Given the description of an element on the screen output the (x, y) to click on. 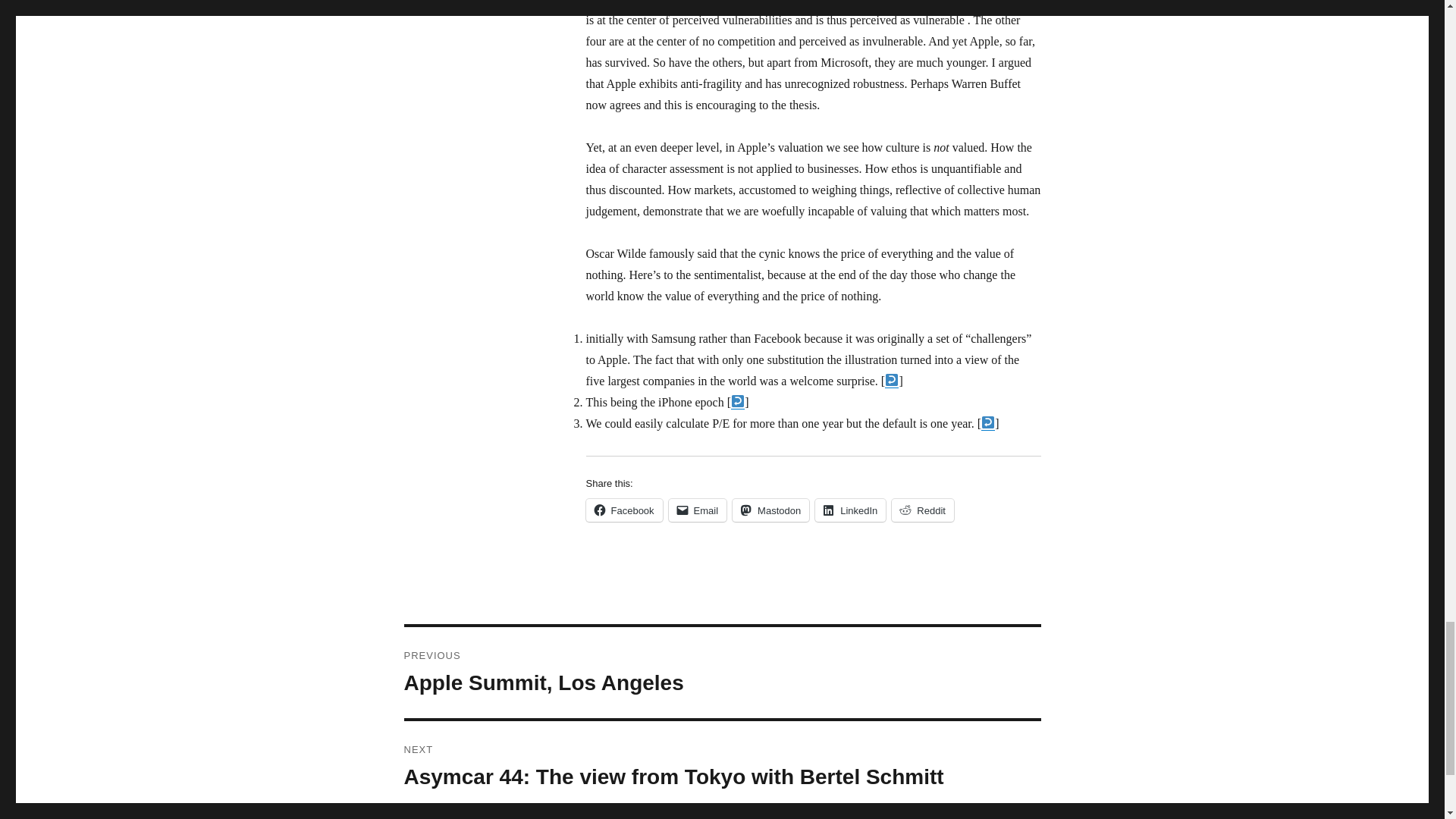
Reddit (922, 509)
Click to email a link to a friend (697, 509)
Click to share on Facebook (623, 509)
Click to share on Mastodon (770, 509)
Click to share on LinkedIn (850, 509)
Mastodon (722, 672)
LinkedIn (770, 509)
Click to share on Reddit (850, 509)
Facebook (922, 509)
Email (623, 509)
